Given the description of an element on the screen output the (x, y) to click on. 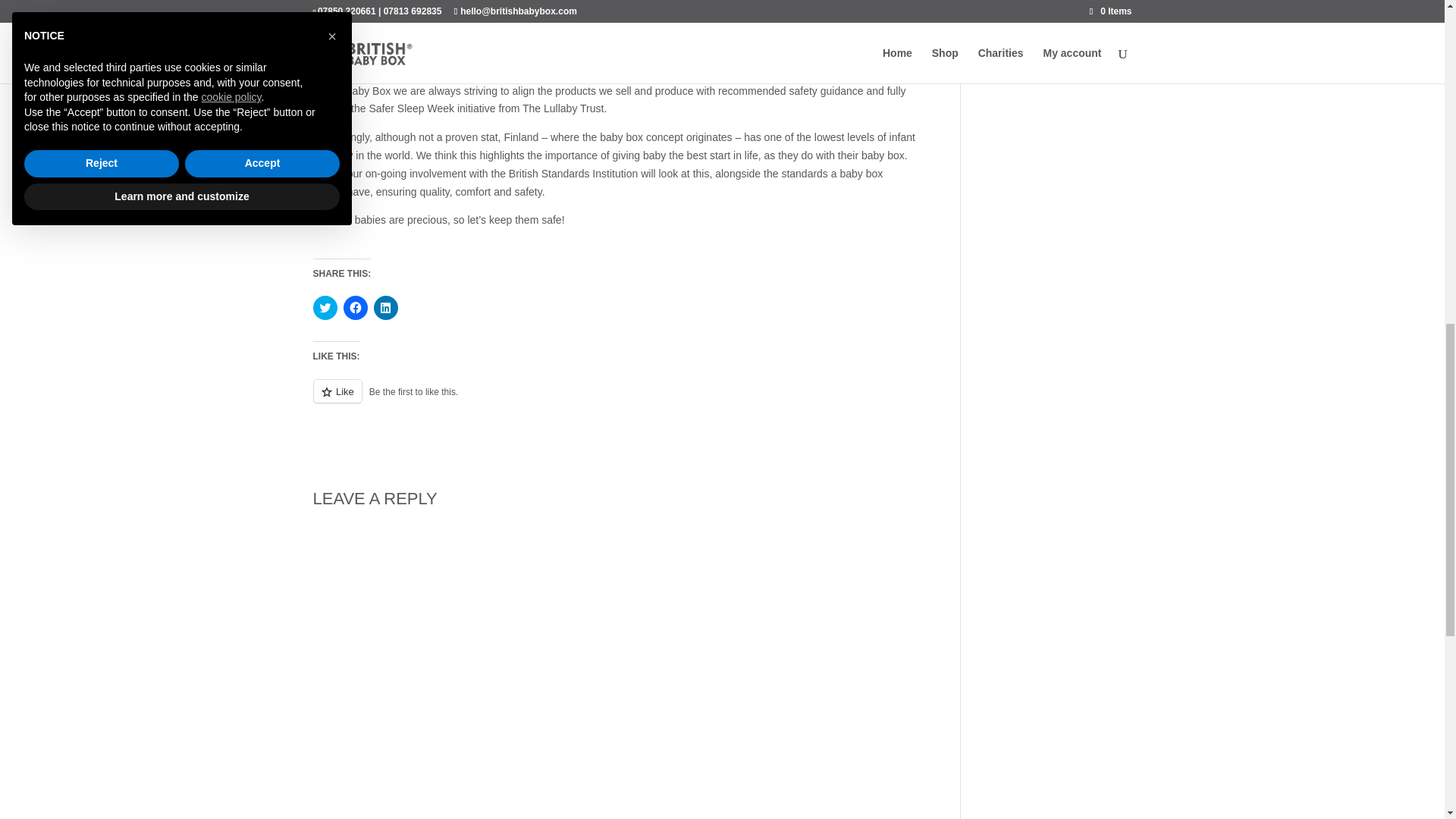
Click to share on LinkedIn (384, 307)
Click to share on Facebook (354, 307)
Like or Reblog (614, 399)
Click to share on Twitter (324, 307)
